Given the description of an element on the screen output the (x, y) to click on. 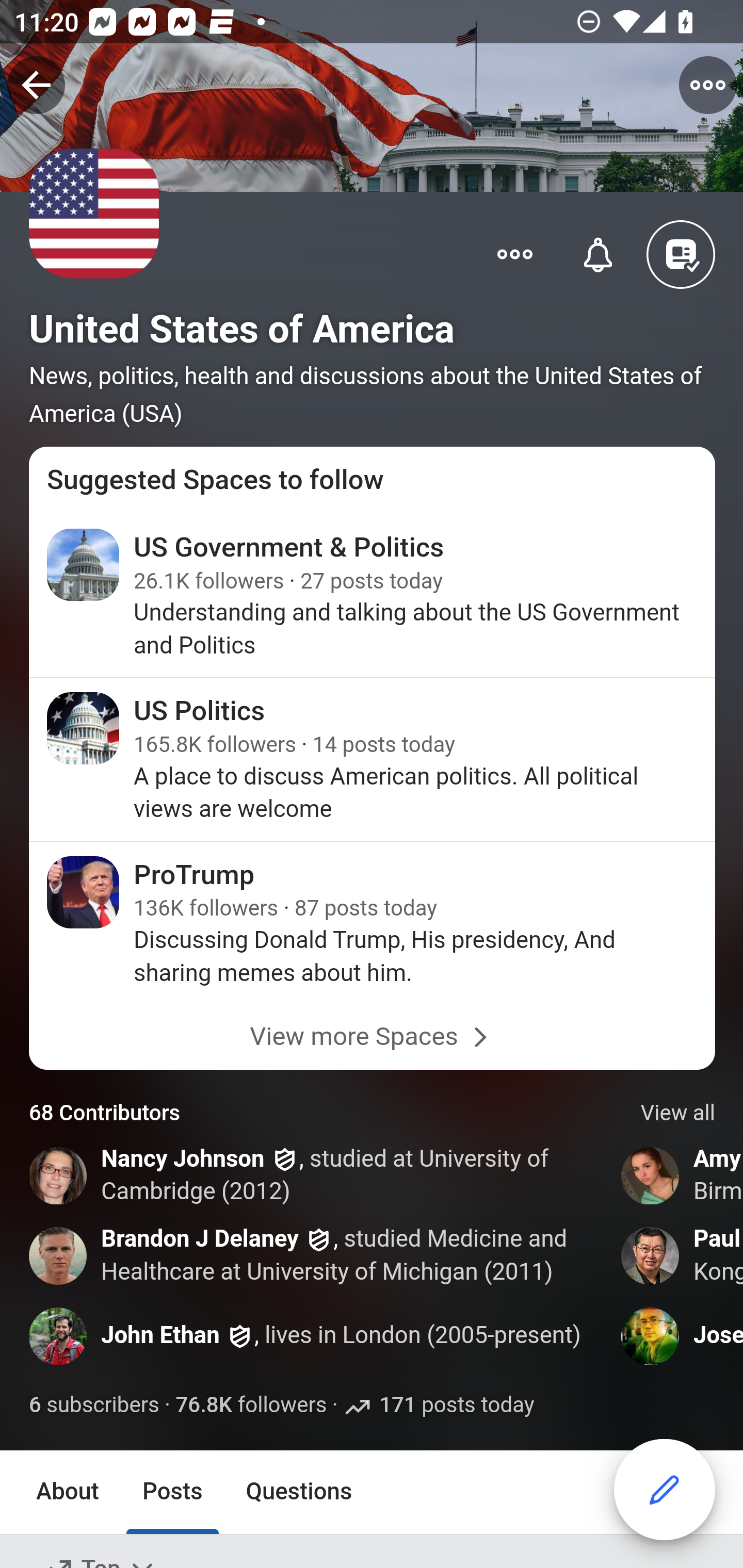
More (514, 252)
Personalized (598, 252)
United States of America (241, 329)
View more Spaces (372, 1036)
View all (677, 1113)
Nancy Johnson (183, 1160)
Profile photo for Nancy Johnson (58, 1175)
Profile photo for Amy Rees (650, 1175)
Brandon J Delaney (200, 1239)
Profile photo for Brandon J Delaney (58, 1256)
Profile photo for Paul Denlinger (650, 1256)
Profile photo for John Ethan (58, 1336)
Profile photo for Joseph Boyle (650, 1336)
John Ethan (160, 1335)
About (68, 1492)
Posts (171, 1492)
Questions (299, 1492)
